Given the description of an element on the screen output the (x, y) to click on. 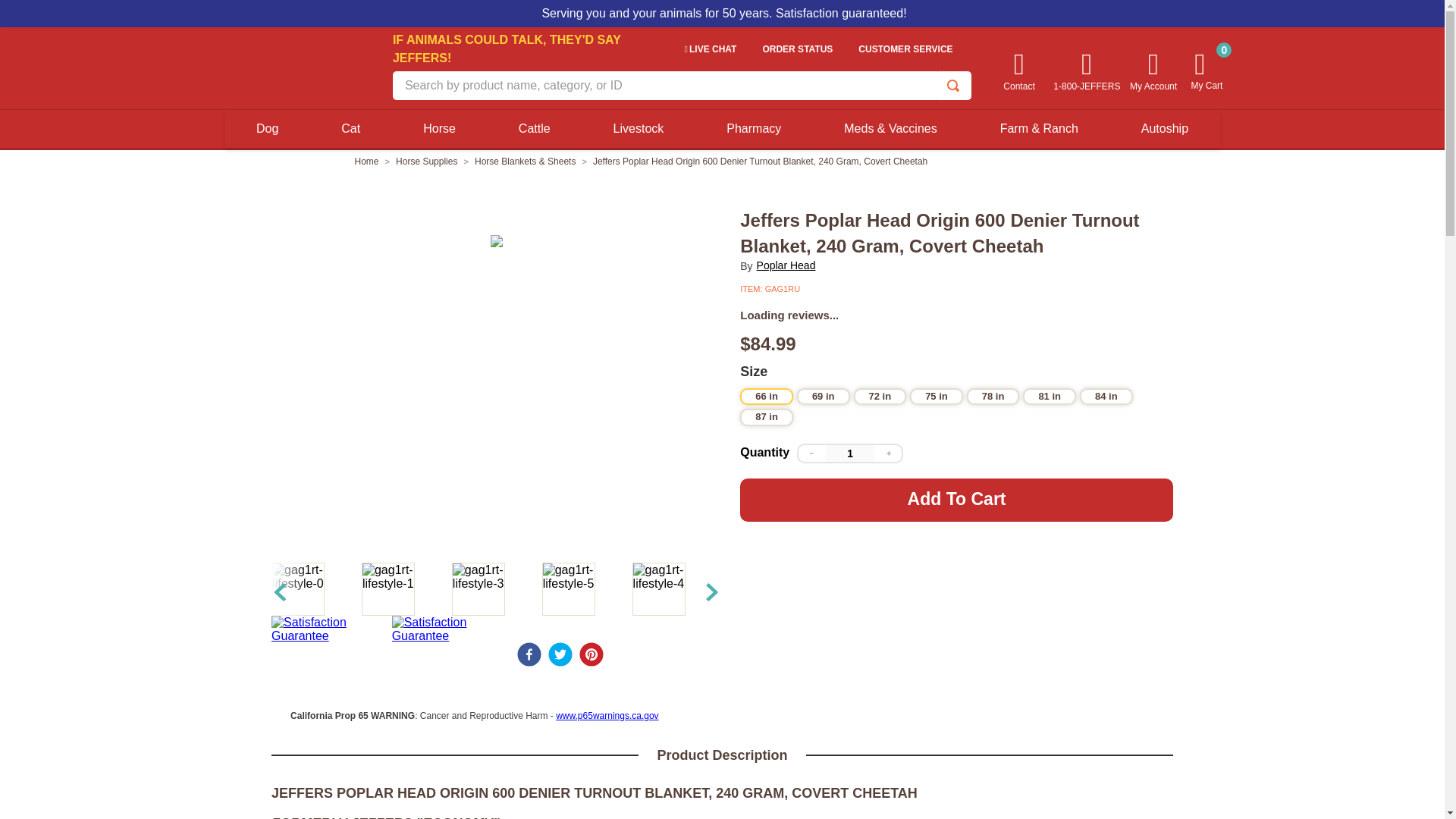
Poplar Head (786, 264)
Horse (439, 128)
1 (850, 453)
Add To Cart (956, 499)
LIVE CHAT (709, 50)
Dog (267, 128)
Livestock (637, 128)
Satisfaction Guarantee (451, 629)
Autoship (1164, 128)
ORDER STATUS (796, 50)
LIVE CHAT (709, 50)
Home (366, 162)
1-800-JEFFERS (1085, 69)
www.p65warnings.ca.gov (607, 715)
CUSTOMER SERVICE (905, 50)
